Given the description of an element on the screen output the (x, y) to click on. 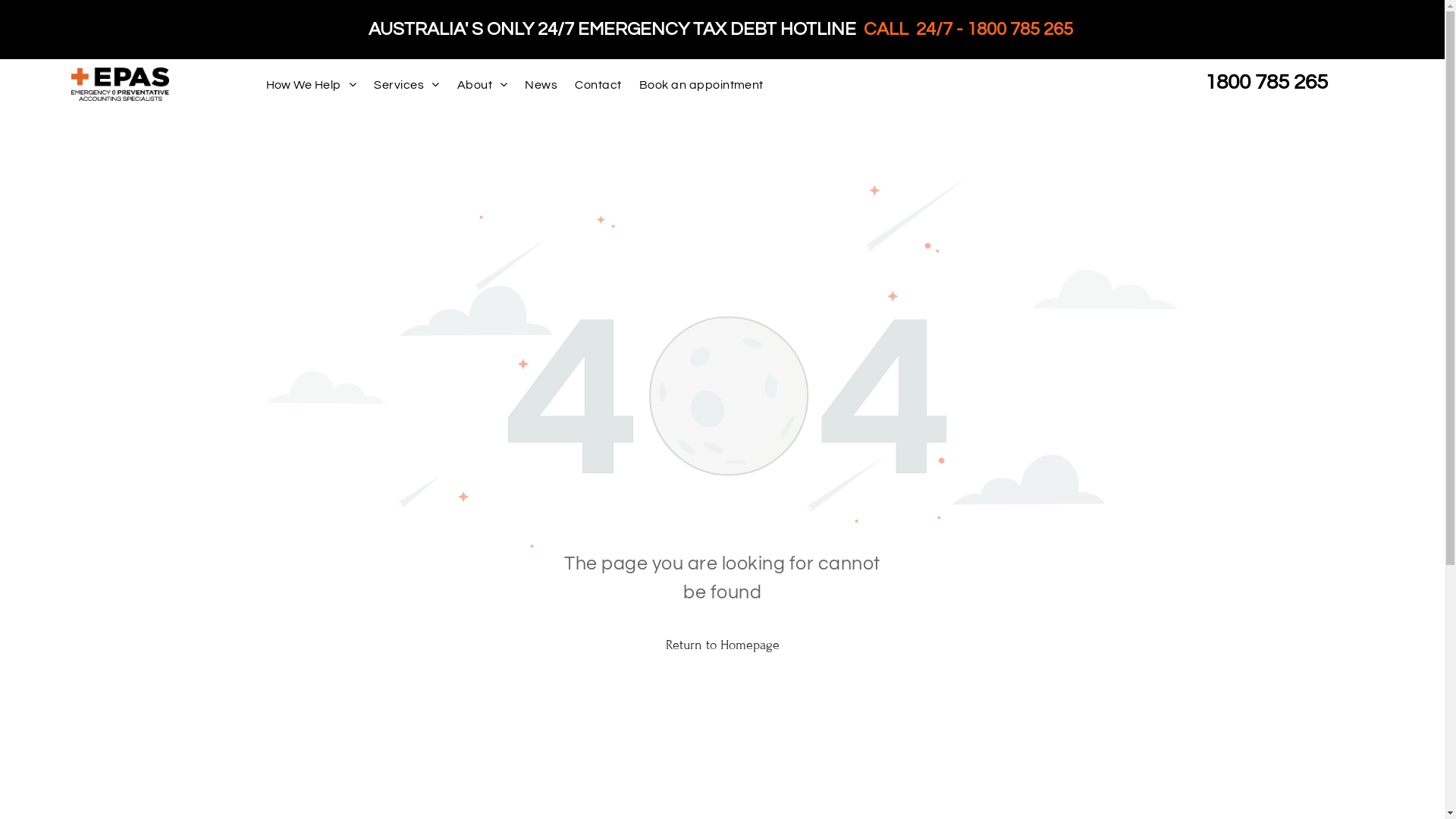
Return to Homepage Element type: text (721, 644)
About Element type: text (485, 84)
How We Help Element type: text (313, 84)
Contact Element type: text (600, 84)
1800 785 265 Element type: text (1265, 82)
News Element type: text (543, 84)
Services Element type: text (408, 84)
Book an appointment Element type: text (704, 84)
